Given the description of an element on the screen output the (x, y) to click on. 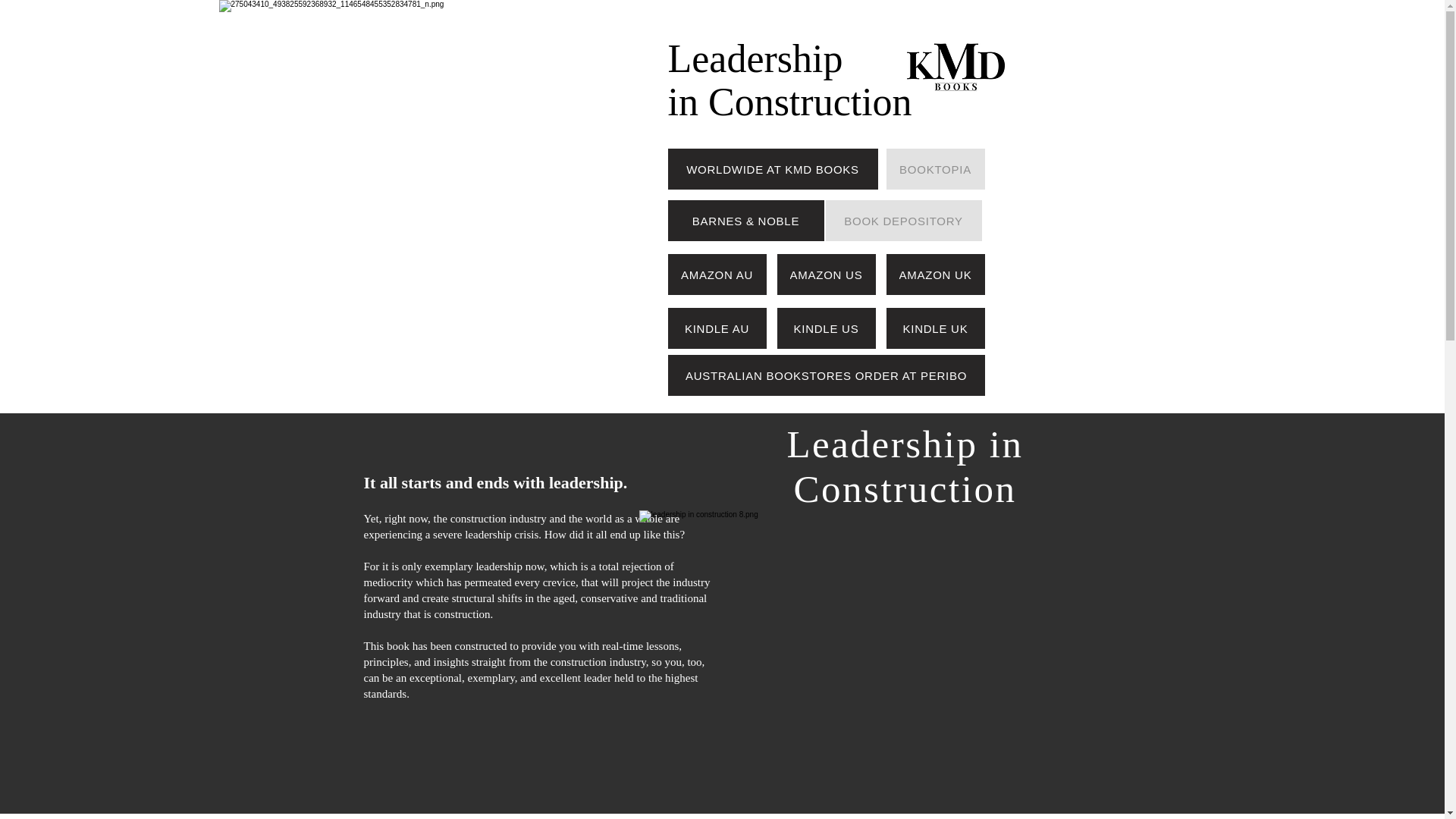
KINDLE US (825, 327)
BOOKTOPIA (934, 168)
KINDLE AU (715, 327)
AUSTRALIAN BOOKSTORES ORDER AT PERIBO (825, 374)
BOOK DEPOSITORY (903, 219)
WORLDWIDE AT KMD BOOKS (771, 168)
AMAZON US (825, 273)
AMAZON UK (934, 273)
AMAZON AU (715, 273)
KINDLE UK (934, 327)
